Given the description of an element on the screen output the (x, y) to click on. 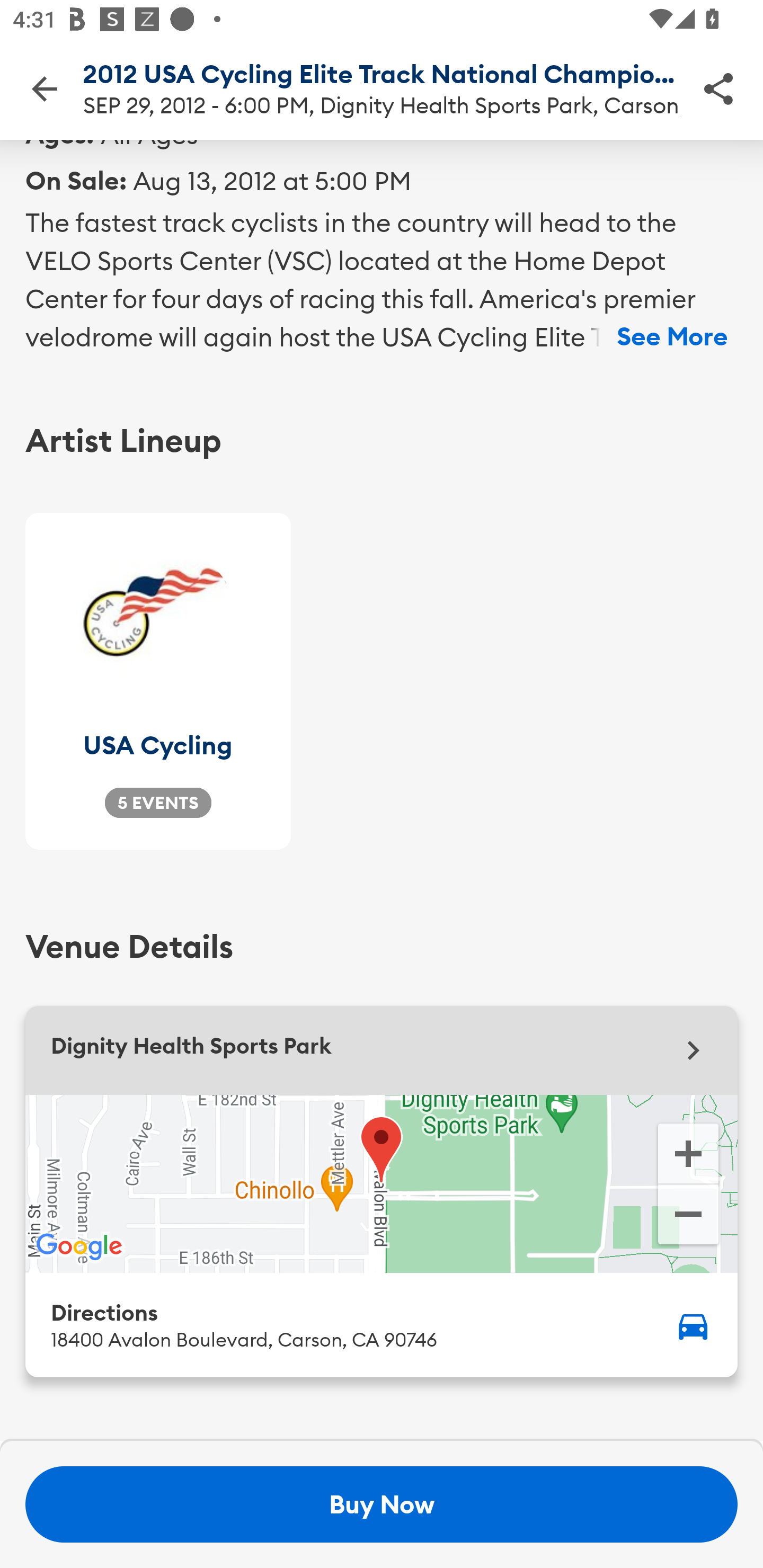
BackButton (44, 88)
Share (718, 88)
See More (671, 336)
USA Cycling 5 EVENTS (157, 680)
Dignity Health Sports Park (381, 1050)
Google Map Dignity Health Sports Park.  (381, 1183)
Zoom in (687, 1152)
Zoom out (687, 1216)
Buy Now (381, 1504)
